Given the description of an element on the screen output the (x, y) to click on. 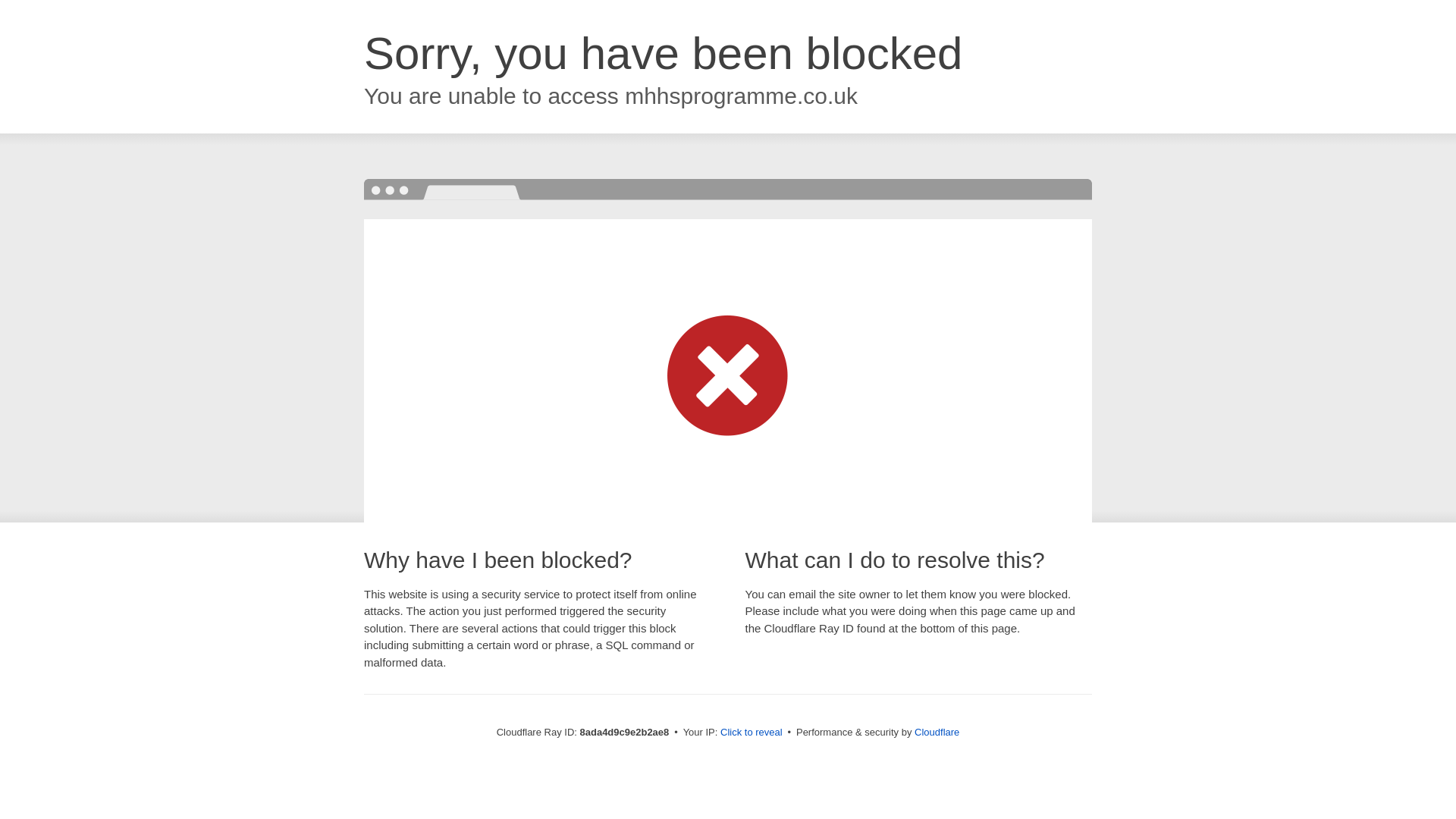
Click to reveal (751, 732)
Cloudflare (936, 731)
